Given the description of an element on the screen output the (x, y) to click on. 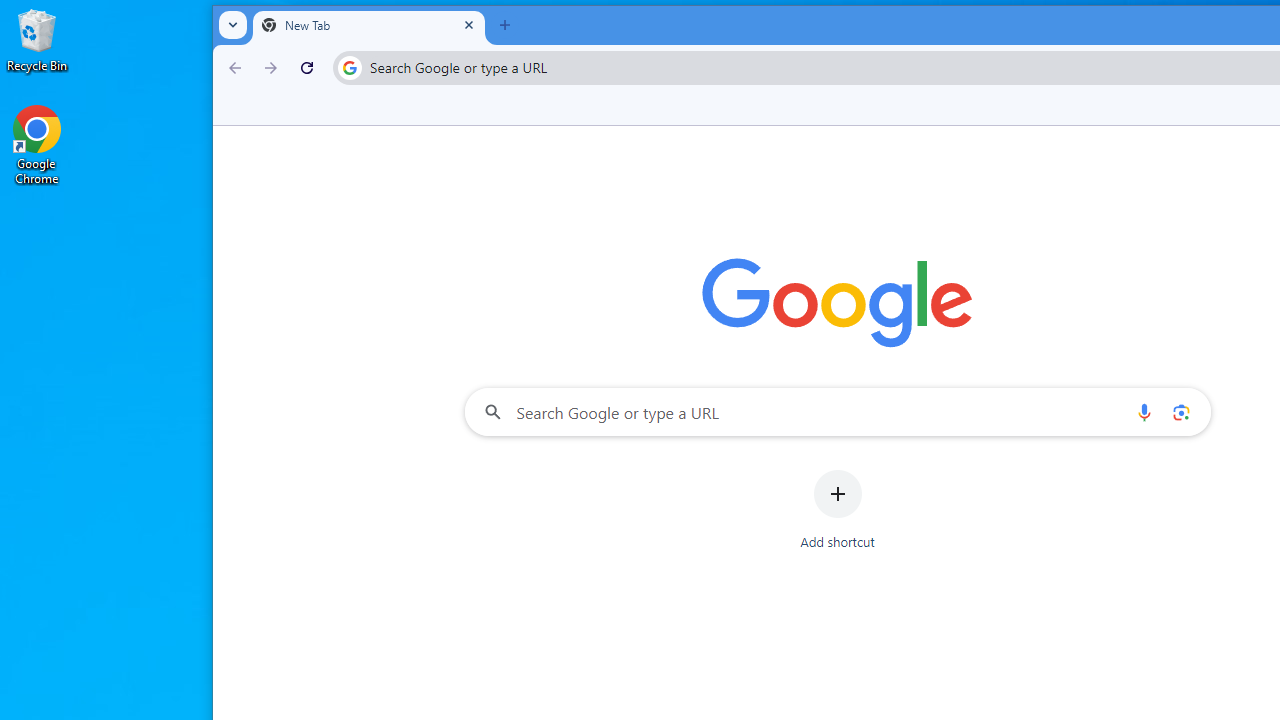
Google Chrome (37, 144)
Recycle Bin (37, 39)
